Given the description of an element on the screen output the (x, y) to click on. 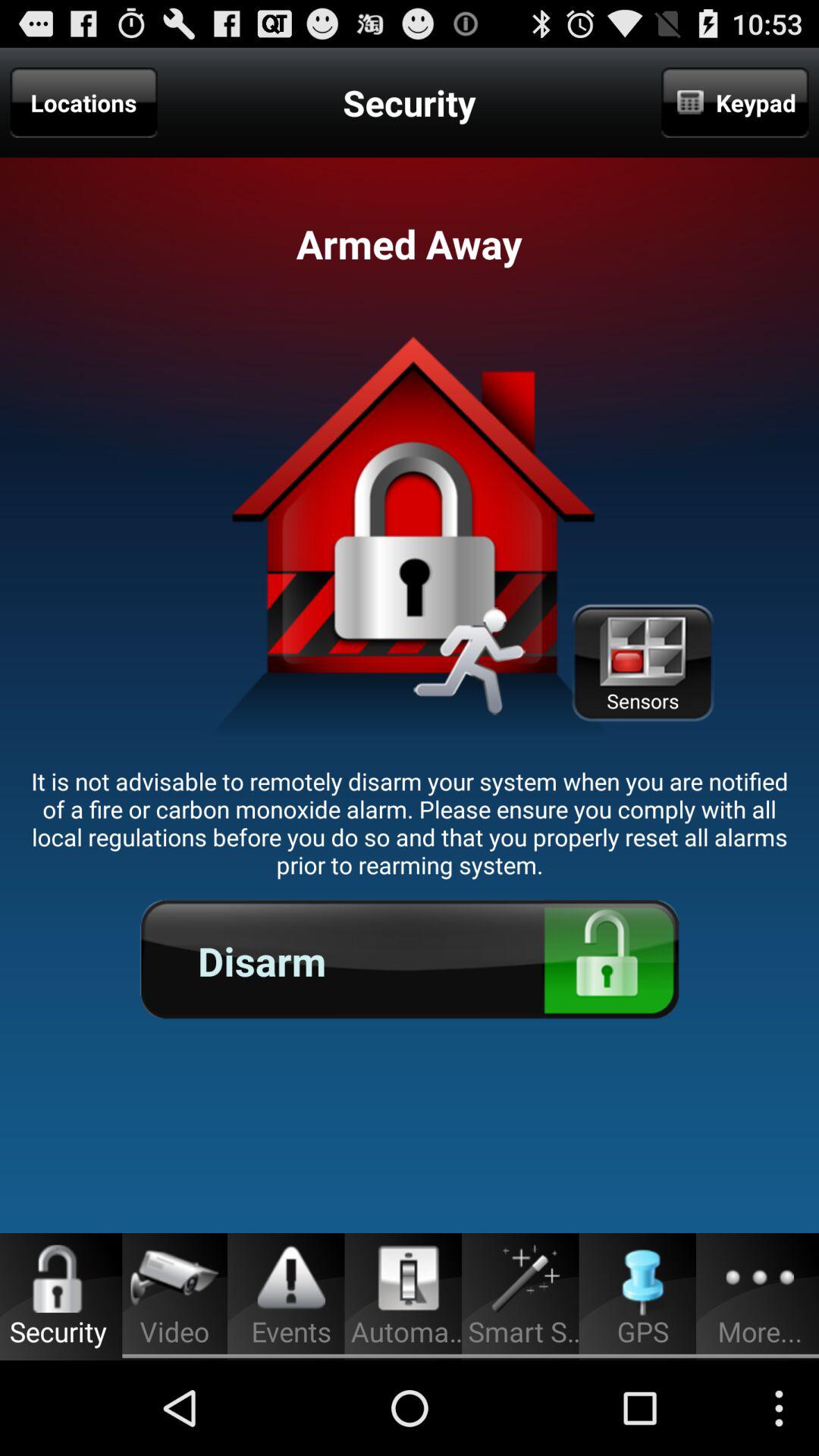
choose the app above the it is not item (83, 102)
